Given the description of an element on the screen output the (x, y) to click on. 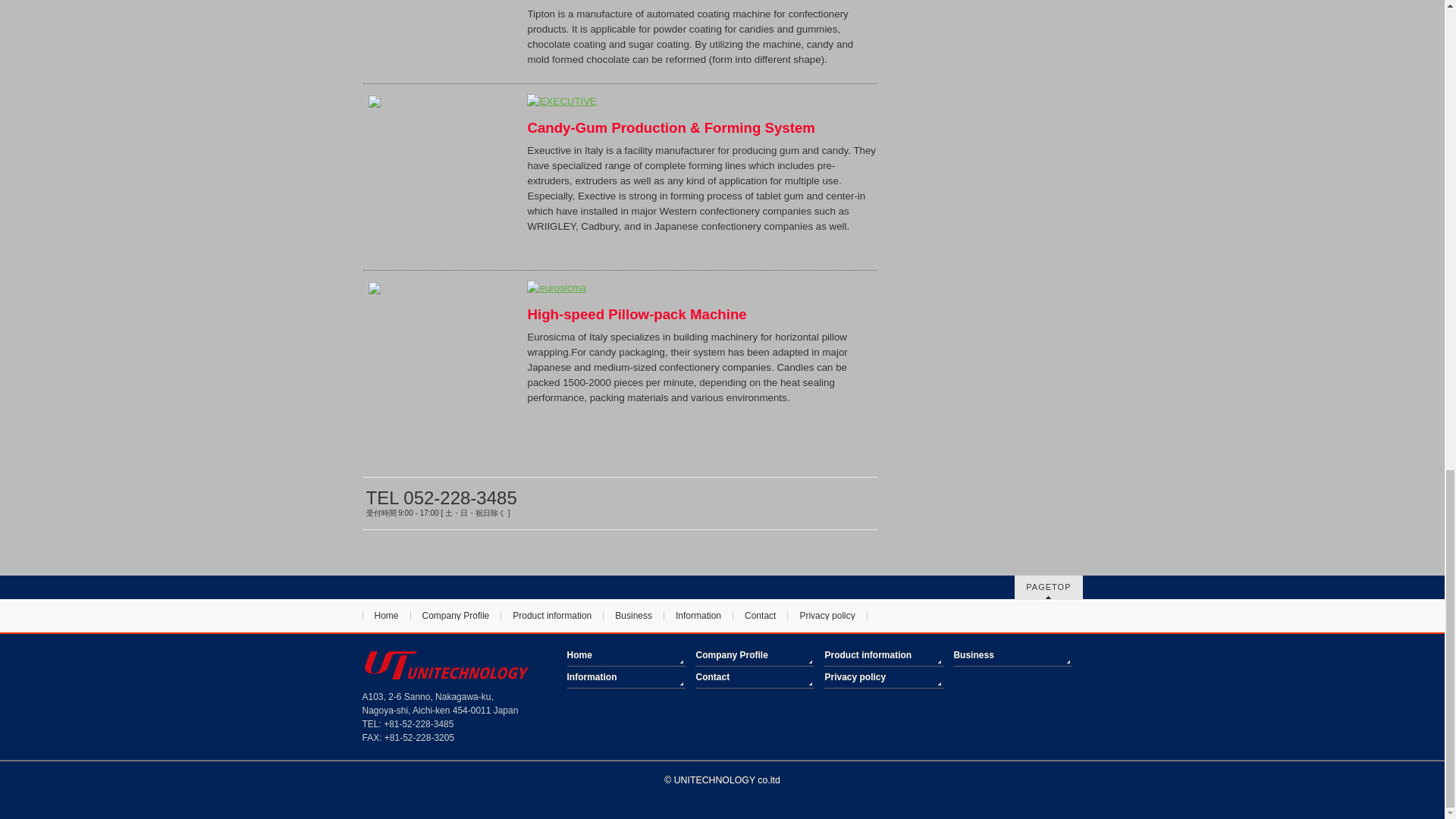
Home (386, 614)
PAGETOP (1047, 586)
Company Profile (456, 614)
Product information (552, 614)
